Given the description of an element on the screen output the (x, y) to click on. 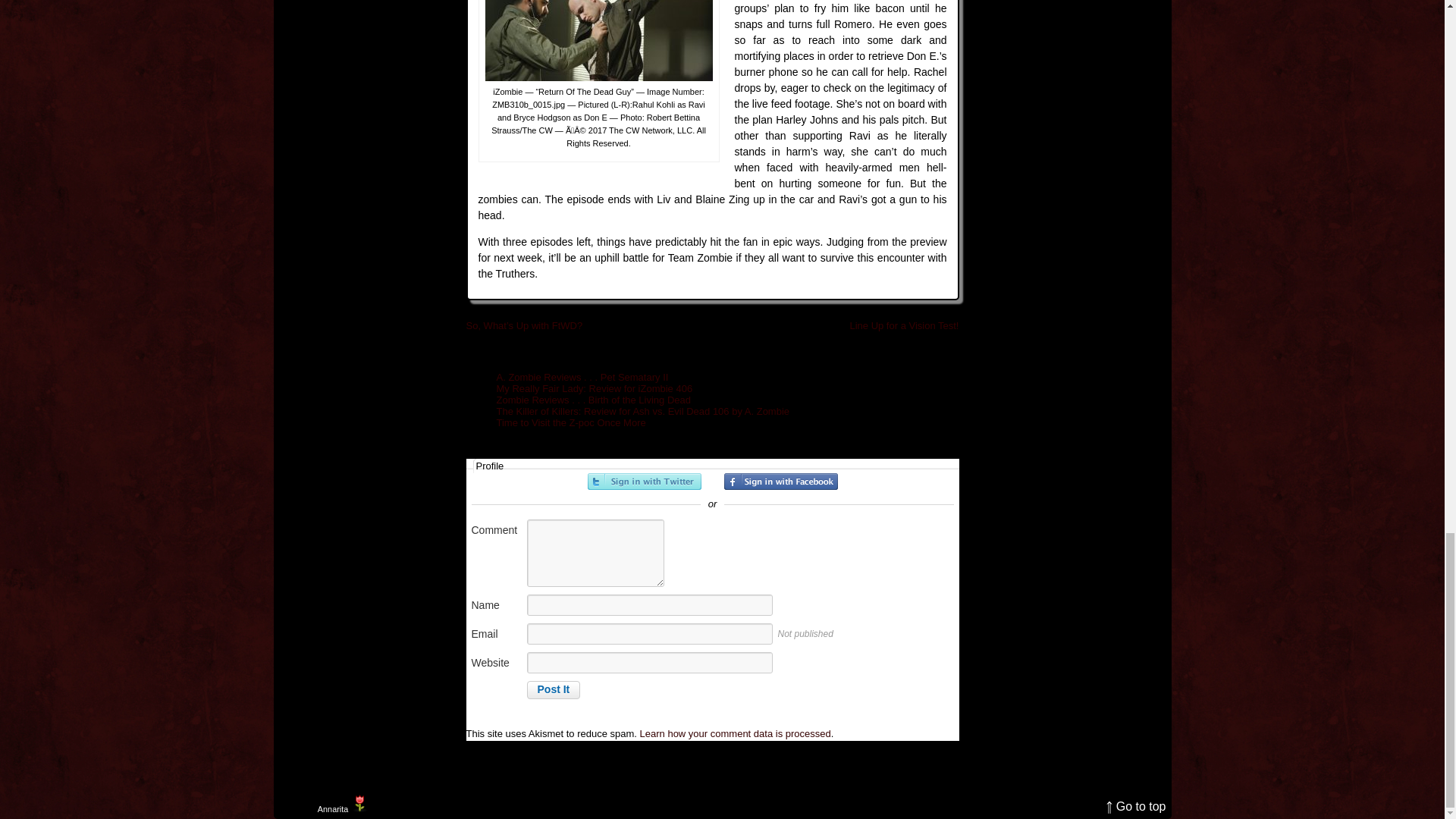
Permalink to: Zombie Reviews . . . Birth of the Living Dead (593, 399)
Permalink to: A. Zombie Reviews . . . Pet Sematary II (582, 377)
Post It (552, 689)
Permalink to: My Really Fair Lady: Review for iZombie 406 (594, 388)
